Given the description of an element on the screen output the (x, y) to click on. 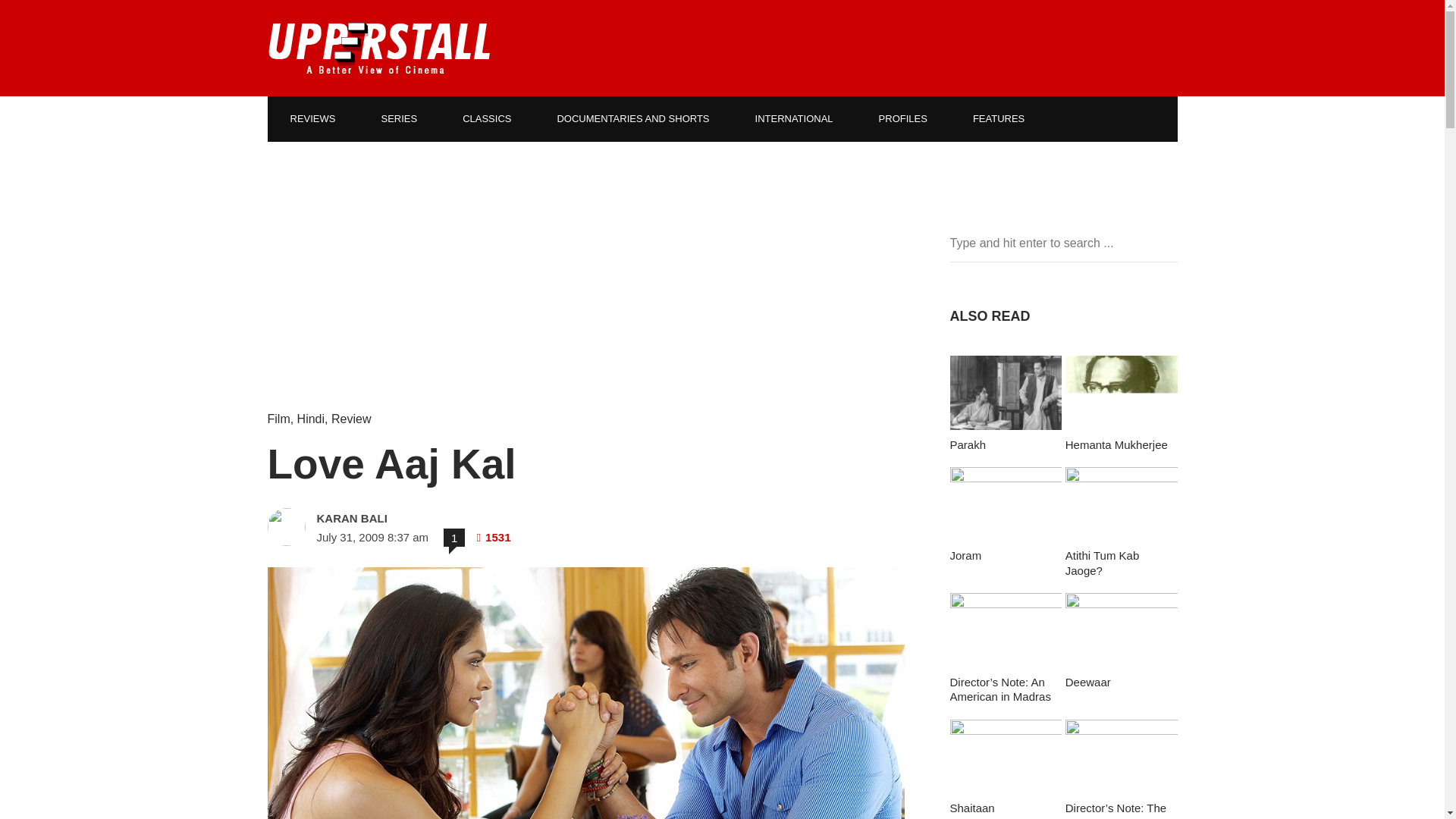
View all posts by Karan Bali (422, 517)
PROFILES (903, 118)
INTERNATIONAL (794, 118)
Film (277, 418)
BY LANGUAGE (325, 164)
Type and hit enter to search ... (1062, 243)
Review (351, 418)
Views (493, 536)
SERIES (398, 118)
REVIEWS (312, 118)
DOCUMENTARIES AND SHORTS (633, 118)
Hindi (310, 418)
FEATURES (998, 118)
Type and hit enter to search ... (1062, 243)
KARAN BALI (422, 517)
